Given the description of an element on the screen output the (x, y) to click on. 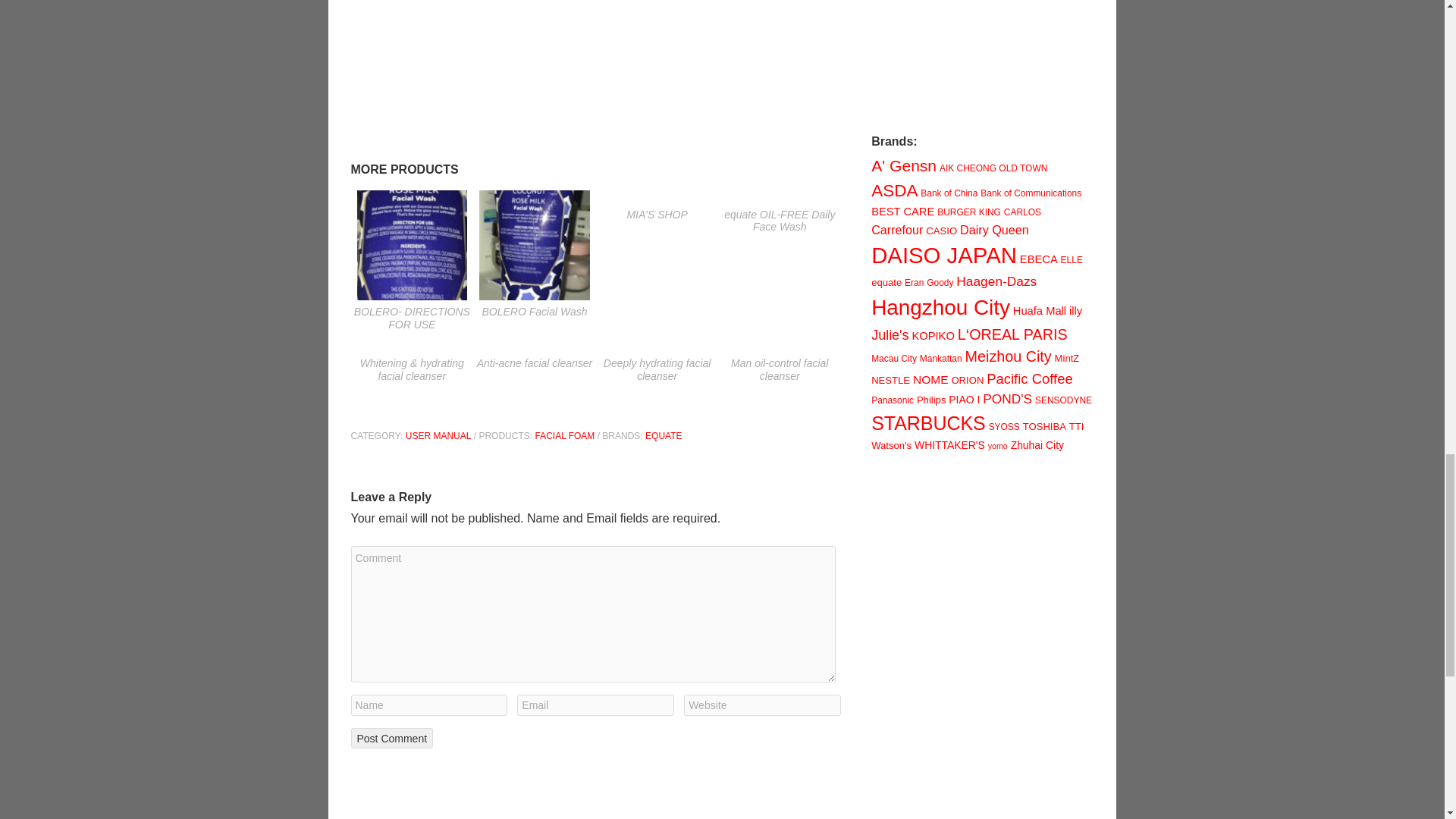
Post Comment (391, 737)
Advertisement (984, 649)
USER MANUAL (438, 435)
Post Comment (391, 737)
EQUATE (663, 435)
Advertisement (595, 81)
Advertisement (984, 51)
FACIAL FOAM (564, 435)
